Given the description of an element on the screen output the (x, y) to click on. 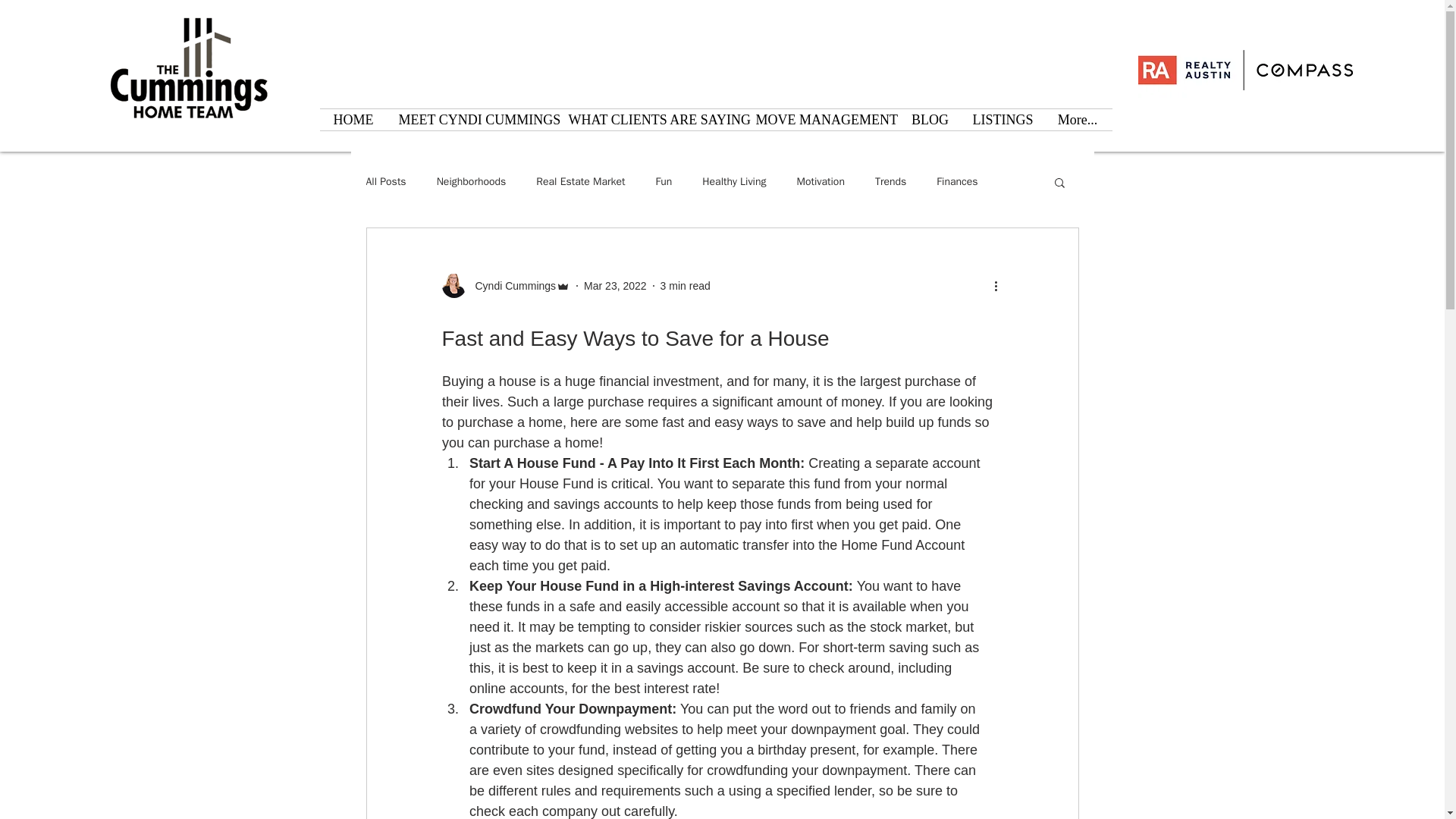
All Posts (385, 182)
LISTINGS (1001, 119)
MOVE MANAGEMENT (821, 119)
Motivation (820, 182)
Cyndi Cummings (510, 285)
Neighborhoods (471, 182)
Finances (956, 182)
Mar 23, 2022 (614, 285)
BLOG (929, 119)
HOME (353, 119)
The CHT Logo Transparent.png (186, 69)
WHAT CLIENTS ARE SAYING (650, 119)
Fun (663, 182)
3 min read (685, 285)
MEET CYNDI CUMMINGS (471, 119)
